Given the description of an element on the screen output the (x, y) to click on. 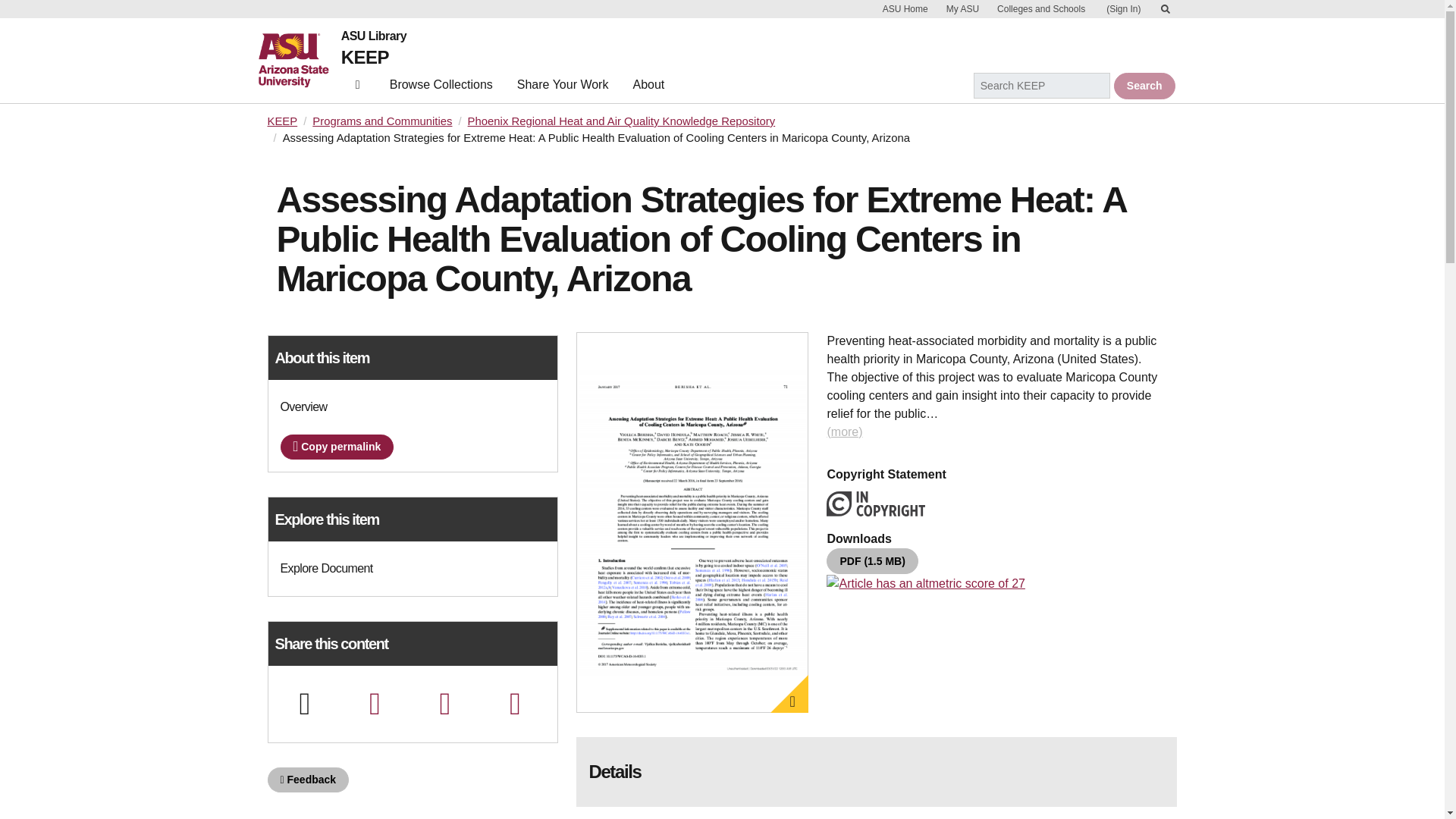
About (647, 87)
KEEP (281, 121)
Programs and Communities (382, 121)
Sign In (1121, 8)
Home (357, 84)
ASU Home (905, 8)
KEEP (364, 56)
Colleges and Schools (1040, 8)
Download original file pdf (872, 560)
Colleges and Schools (1040, 8)
Browse Collections (441, 87)
Home (298, 60)
Share Your Work (562, 87)
Skip to Content (1164, 8)
Print this (303, 703)
